Given the description of an element on the screen output the (x, y) to click on. 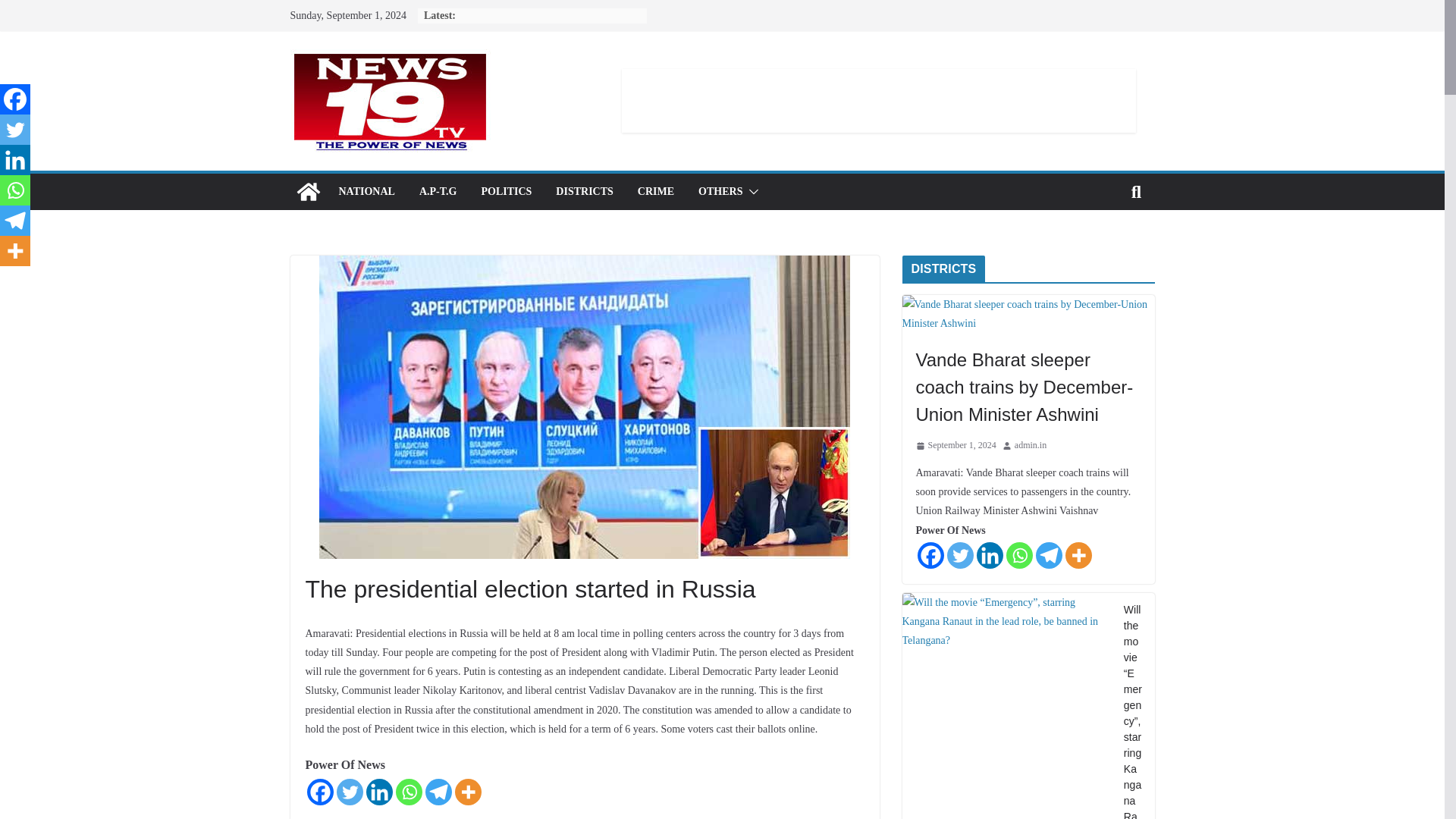
DISTRICTS (584, 191)
Whatsapp (409, 791)
POLITICS (505, 191)
news19tv (307, 191)
OTHERS (720, 191)
CRIME (655, 191)
Facebook (15, 99)
Twitter (349, 791)
Telegram (438, 791)
A.P-T.G (438, 191)
